Given the description of an element on the screen output the (x, y) to click on. 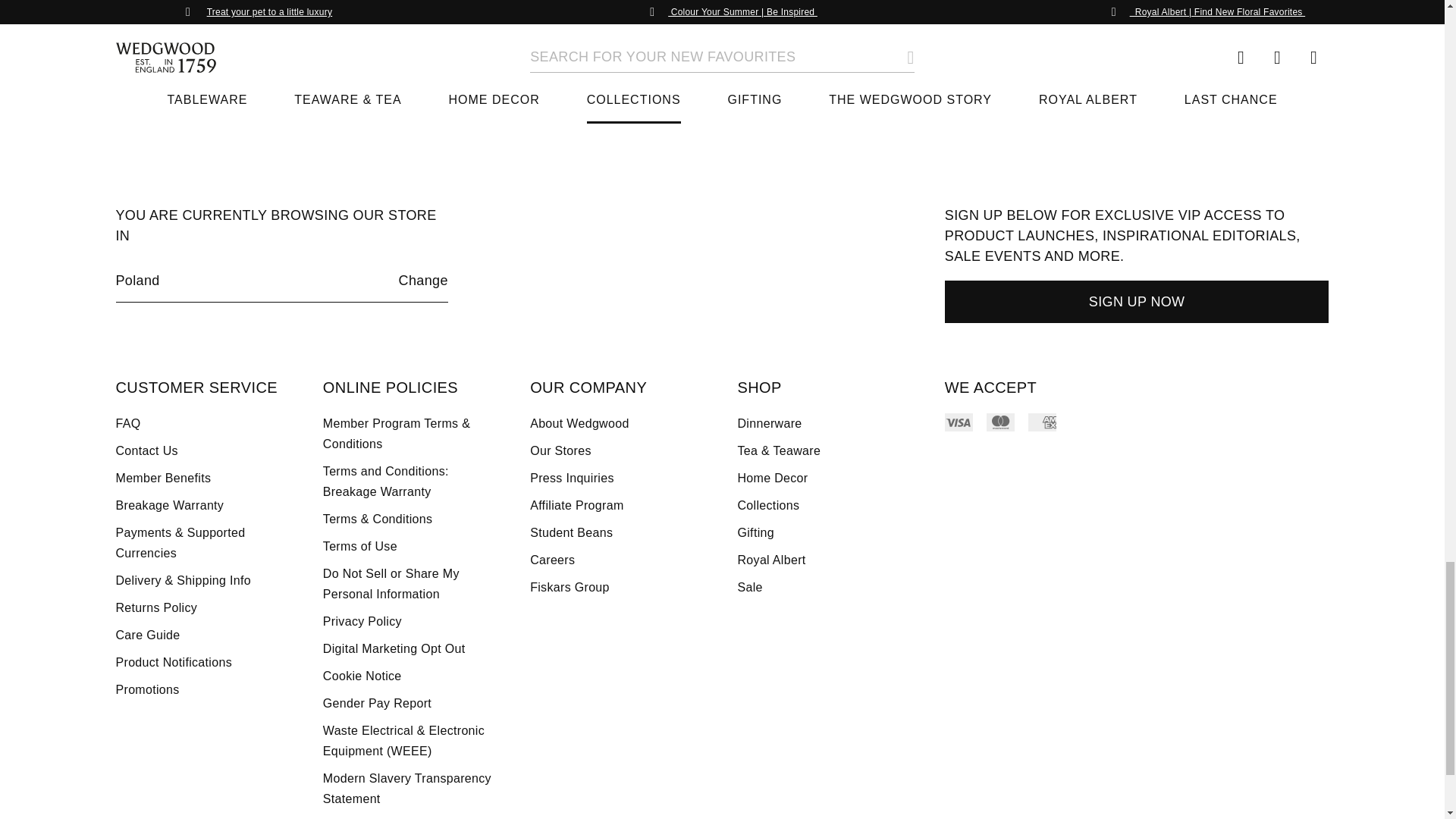
Add to cart (256, 46)
Amex (1042, 422)
MasterCard (1000, 422)
Visa (958, 422)
Mastercard (1000, 422)
Visa (958, 422)
Amex (1042, 422)
